Given the description of an element on the screen output the (x, y) to click on. 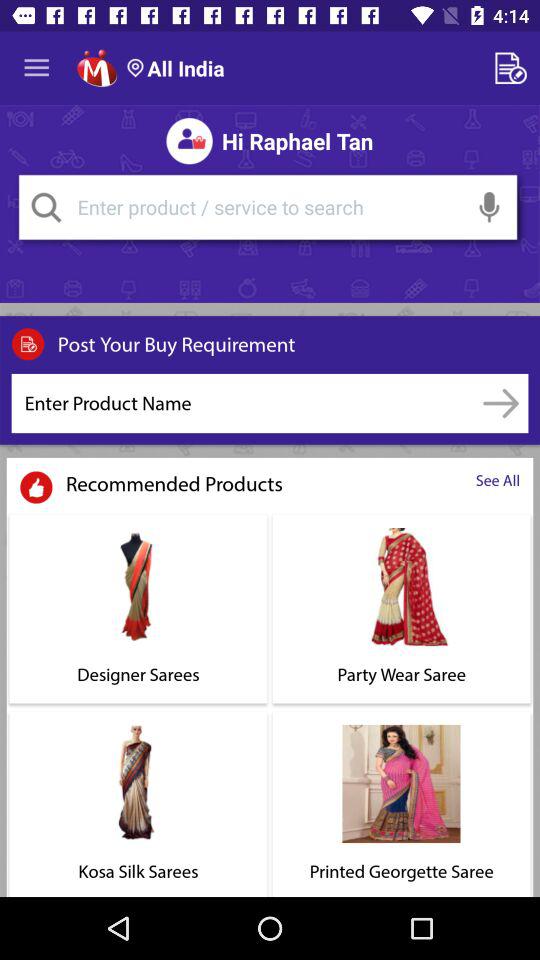
shows the search area option (267, 207)
